Given the description of an element on the screen output the (x, y) to click on. 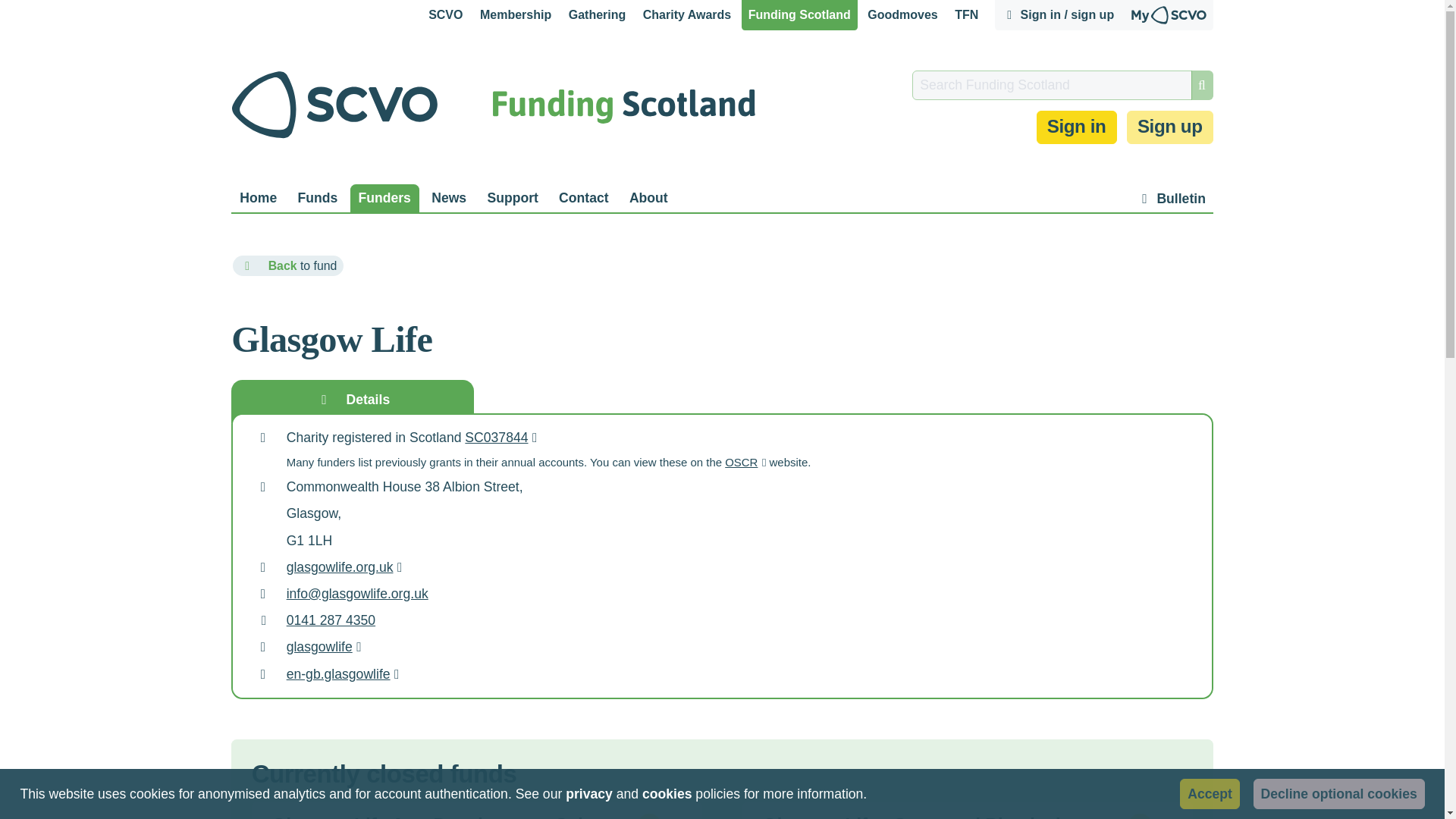
Fund menu (680, 816)
Email (262, 594)
Sign up (1169, 127)
TFN (966, 15)
Membership (515, 15)
Goodmoves (902, 15)
SCVO (445, 15)
Charity number (262, 438)
privacy (589, 794)
Website (262, 567)
Gathering (596, 15)
cookies (667, 794)
Third Force News (966, 15)
Address (262, 487)
Decline optional cookies (1339, 793)
